Given the description of an element on the screen output the (x, y) to click on. 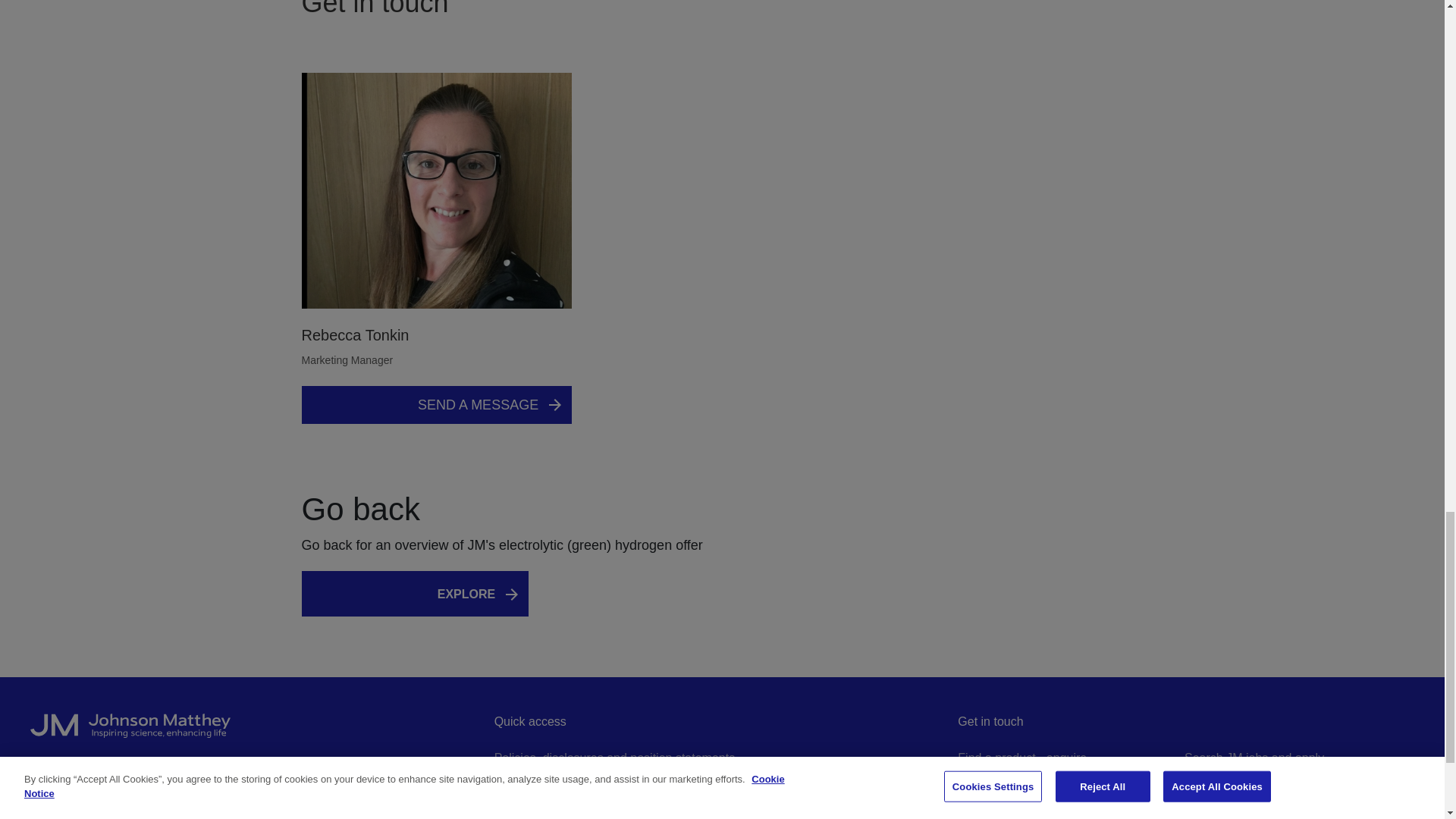
Johnson Matthey (258, 732)
Explore (483, 594)
SEND A MESSAGE  (436, 404)
